Given the description of an element on the screen output the (x, y) to click on. 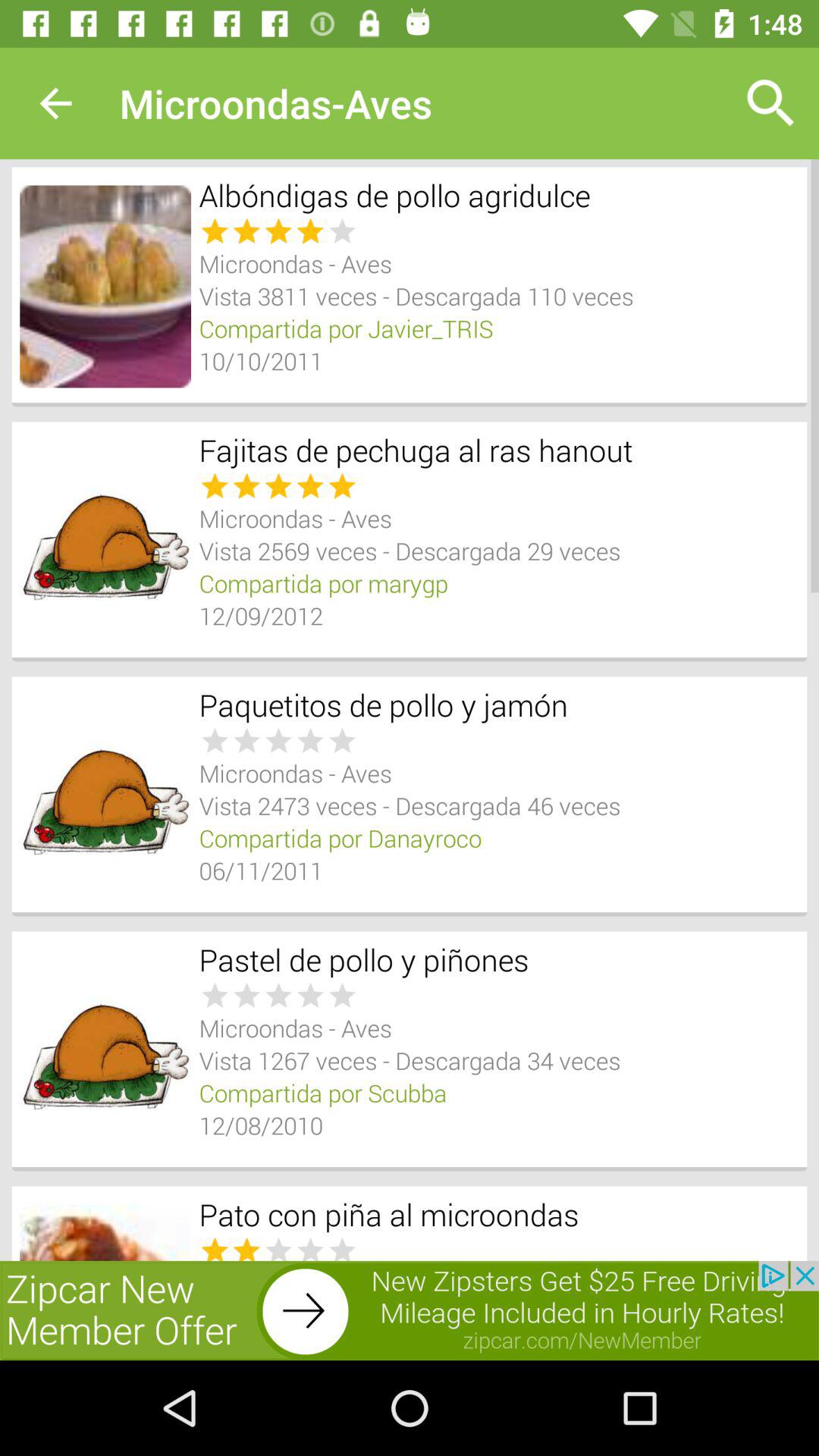
open advertisement page (409, 1310)
